Given the description of an element on the screen output the (x, y) to click on. 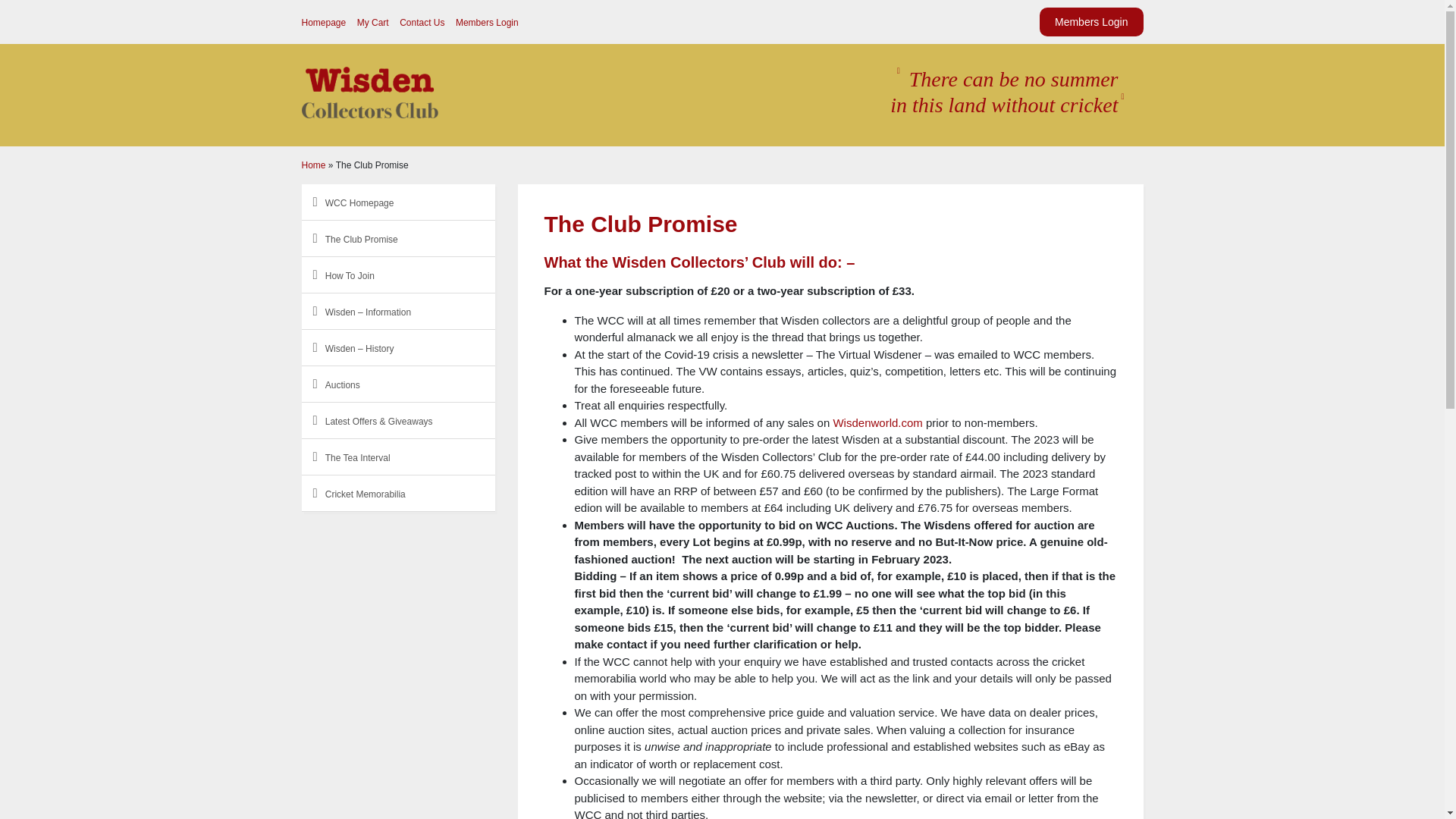
The Club Promise (360, 239)
Home (313, 164)
Wisdenworld.com (876, 422)
WCC Homepage (359, 203)
Cricket Memorabilia (365, 493)
Members Login (1090, 21)
Contact Us (421, 22)
The Tea Interval (357, 457)
My Cart (372, 22)
Auctions (341, 385)
